Given the description of an element on the screen output the (x, y) to click on. 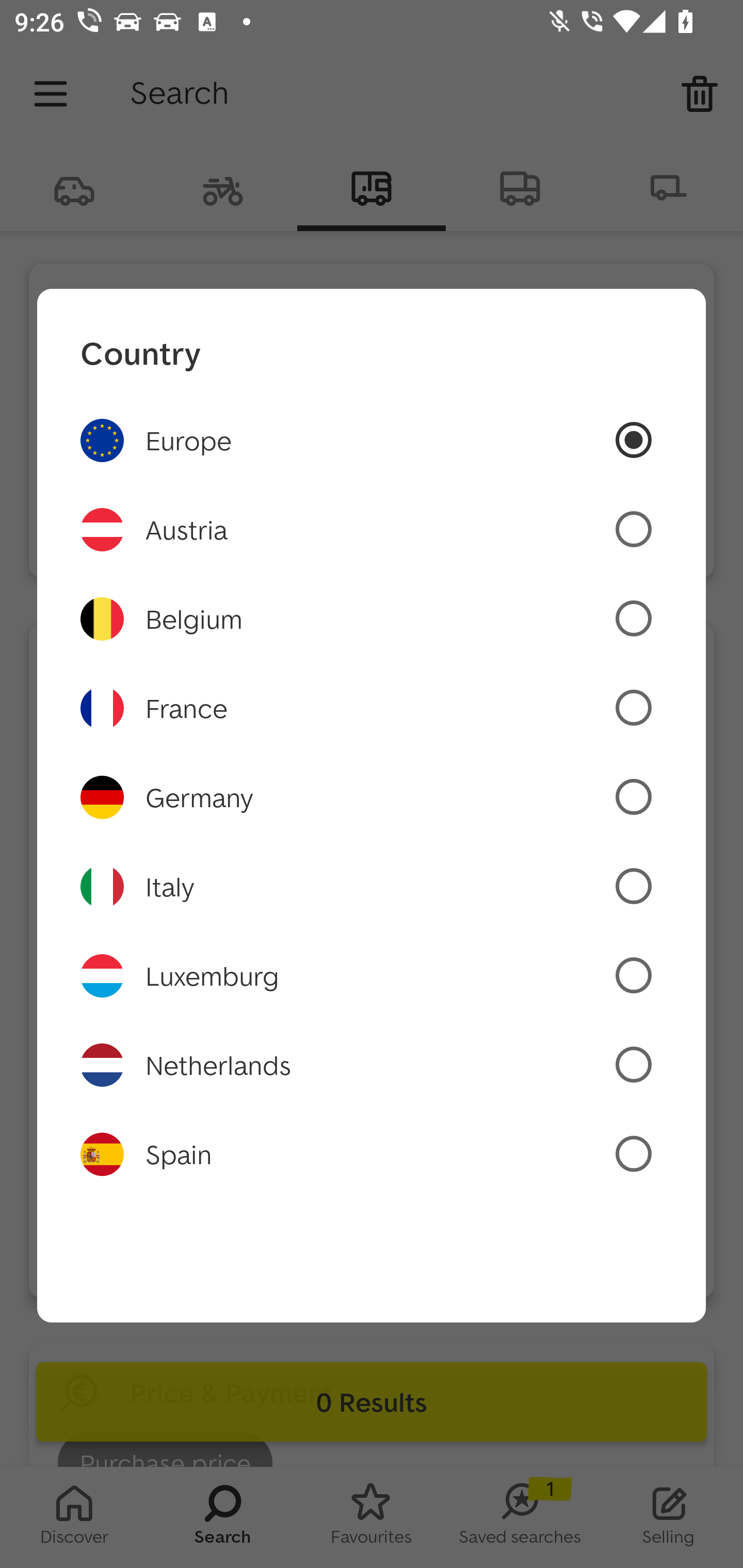
Europe (371, 439)
Austria (371, 528)
Belgium (371, 618)
France (371, 707)
Germany (371, 797)
Italy (371, 886)
Luxemburg (371, 975)
Netherlands (371, 1065)
Spain (371, 1153)
